Given the description of an element on the screen output the (x, y) to click on. 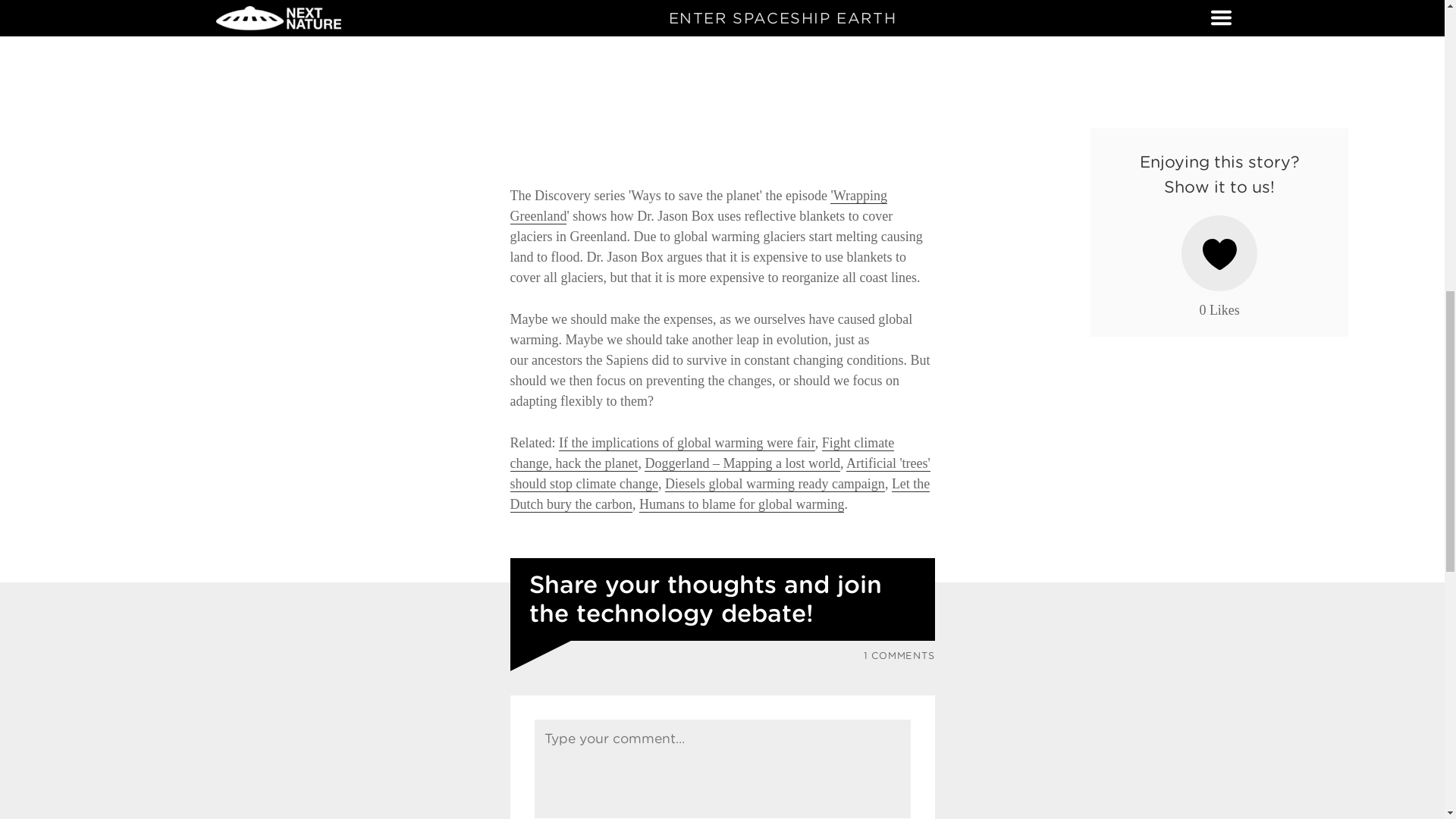
diesels global warming ready campaign (775, 483)
LinkedIn (389, 11)
doggerland - mapping a lost world (742, 463)
Diesels global warming ready campaign (775, 483)
artificial trees should stop climate change (719, 473)
Artificial 'trees' should stop climate change (719, 473)
Fight climate change, hack the planet (701, 452)
If the implications of global warming were fair (687, 442)
'Wrapping Greenland (697, 206)
Let the Dutch bury the carbon (719, 493)
humans to blame for global warming (741, 504)
let the dutch bury the carbon (719, 493)
if the implications of global warming were fair (687, 442)
Humans to blame for global warming (741, 504)
fight climate change, hack the planet (701, 452)
